Given the description of an element on the screen output the (x, y) to click on. 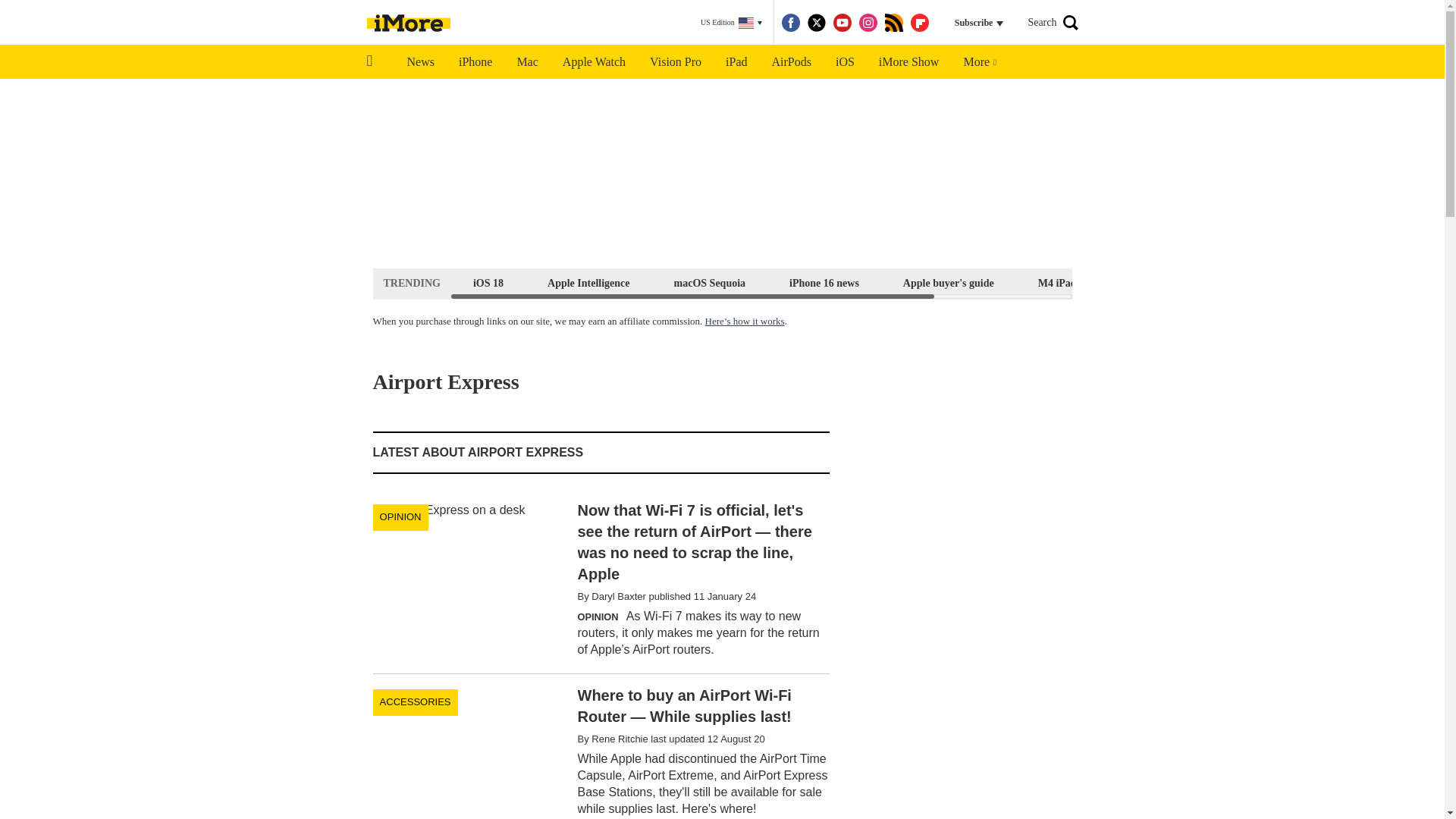
Vision Pro (675, 61)
Apple Watch (593, 61)
iPhone (474, 61)
iOS (845, 61)
iPad (735, 61)
US Edition (731, 22)
iMore Show (909, 61)
AirPods (792, 61)
Mac (526, 61)
News (419, 61)
